Given the description of an element on the screen output the (x, y) to click on. 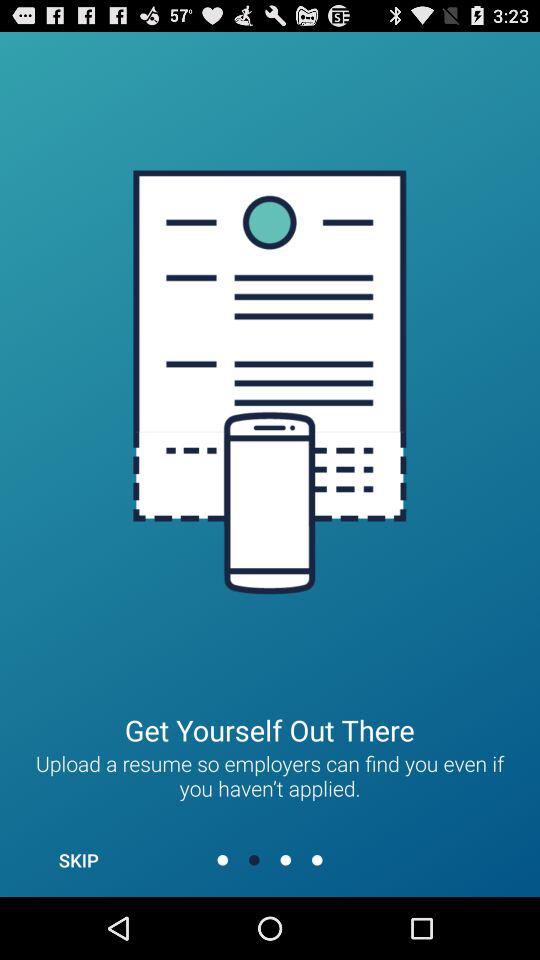
select the skip item (78, 859)
